Given the description of an element on the screen output the (x, y) to click on. 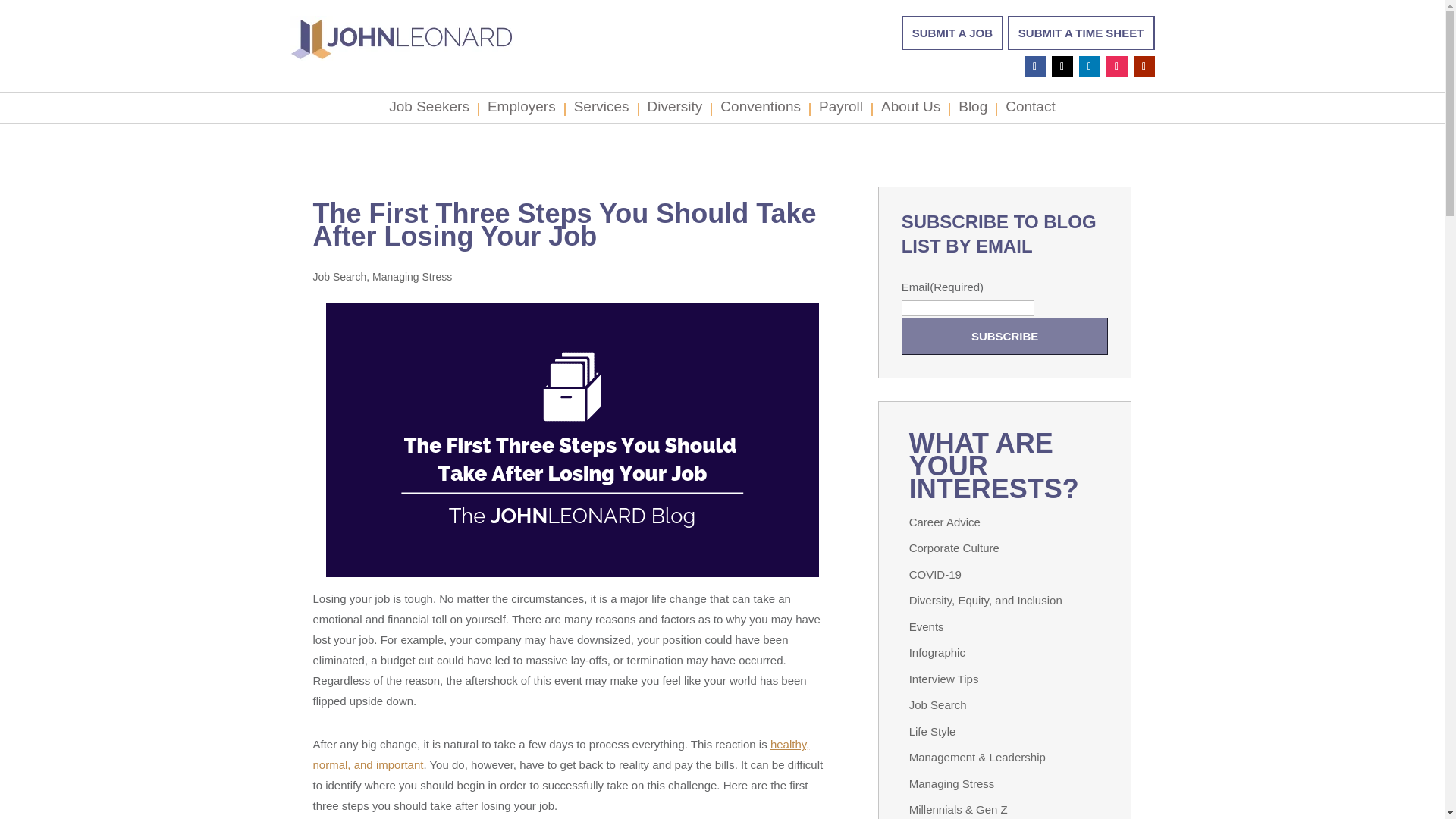
logo header (400, 38)
Job Seekers (428, 110)
Conventions (760, 110)
SUBMIT A JOB (952, 32)
Follow on LinkedIn (1088, 66)
Follow on X (1061, 66)
Follow on Instagram (1115, 66)
Services (600, 110)
SUBMIT A TIME SHEET (1080, 32)
Subscribe (1004, 335)
Blog (972, 110)
About Us (910, 110)
Contact (1030, 110)
Employers (521, 110)
Diversity (675, 110)
